Given the description of an element on the screen output the (x, y) to click on. 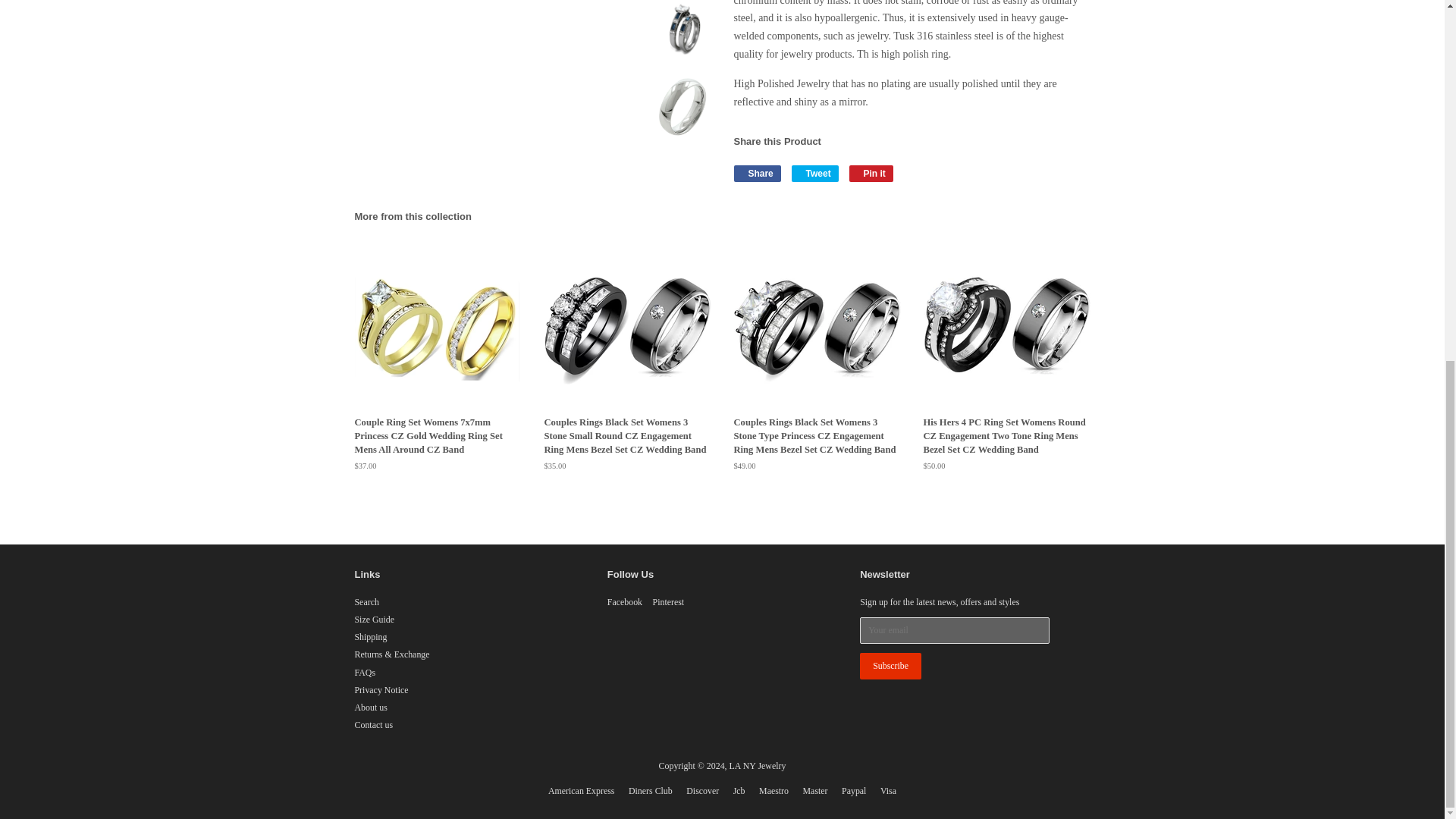
Subscribe (890, 665)
Tweet on Twitter (815, 173)
LA NY Jewelry on Pinterest (668, 602)
Pin on Pinterest (870, 173)
LA NY Jewelry on Facebook (624, 602)
Share on Facebook (756, 173)
